Given the description of an element on the screen output the (x, y) to click on. 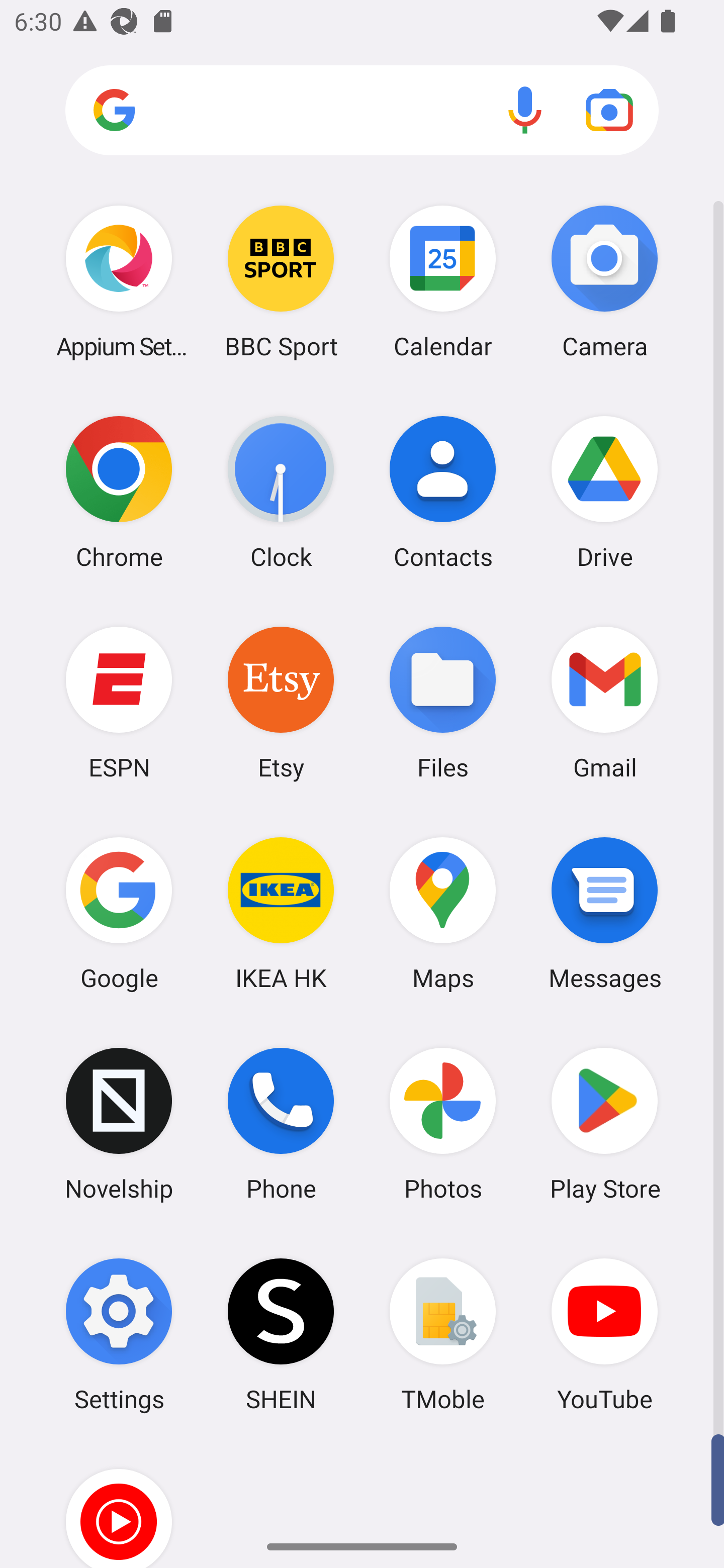
Search apps, web and more (361, 110)
Voice search (524, 109)
Google Lens (608, 109)
Appium Settings (118, 281)
BBC Sport (280, 281)
Calendar (443, 281)
Camera (604, 281)
Chrome (118, 492)
Clock (280, 492)
Contacts (443, 492)
Drive (604, 492)
ESPN (118, 702)
Etsy (280, 702)
Files (443, 702)
Gmail (604, 702)
Google (118, 913)
IKEA HK (280, 913)
Maps (443, 913)
Messages (604, 913)
Novelship (118, 1124)
Phone (280, 1124)
Photos (443, 1124)
Play Store (604, 1124)
Settings (118, 1334)
SHEIN (280, 1334)
TMoble (443, 1334)
YouTube (604, 1334)
YT Music (118, 1503)
